Given the description of an element on the screen output the (x, y) to click on. 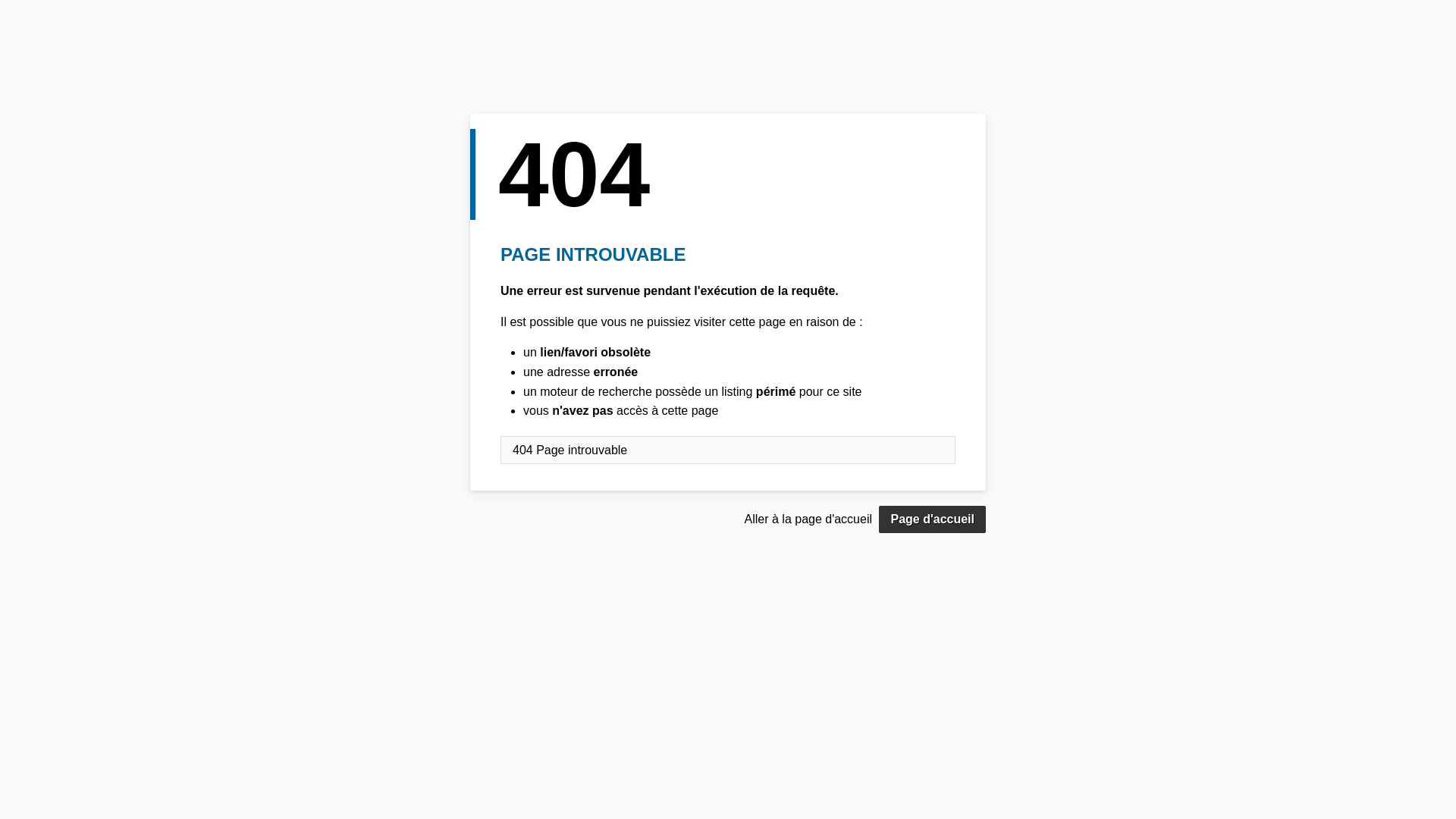
Page d'accueil Element type: text (931, 519)
